Given the description of an element on the screen output the (x, y) to click on. 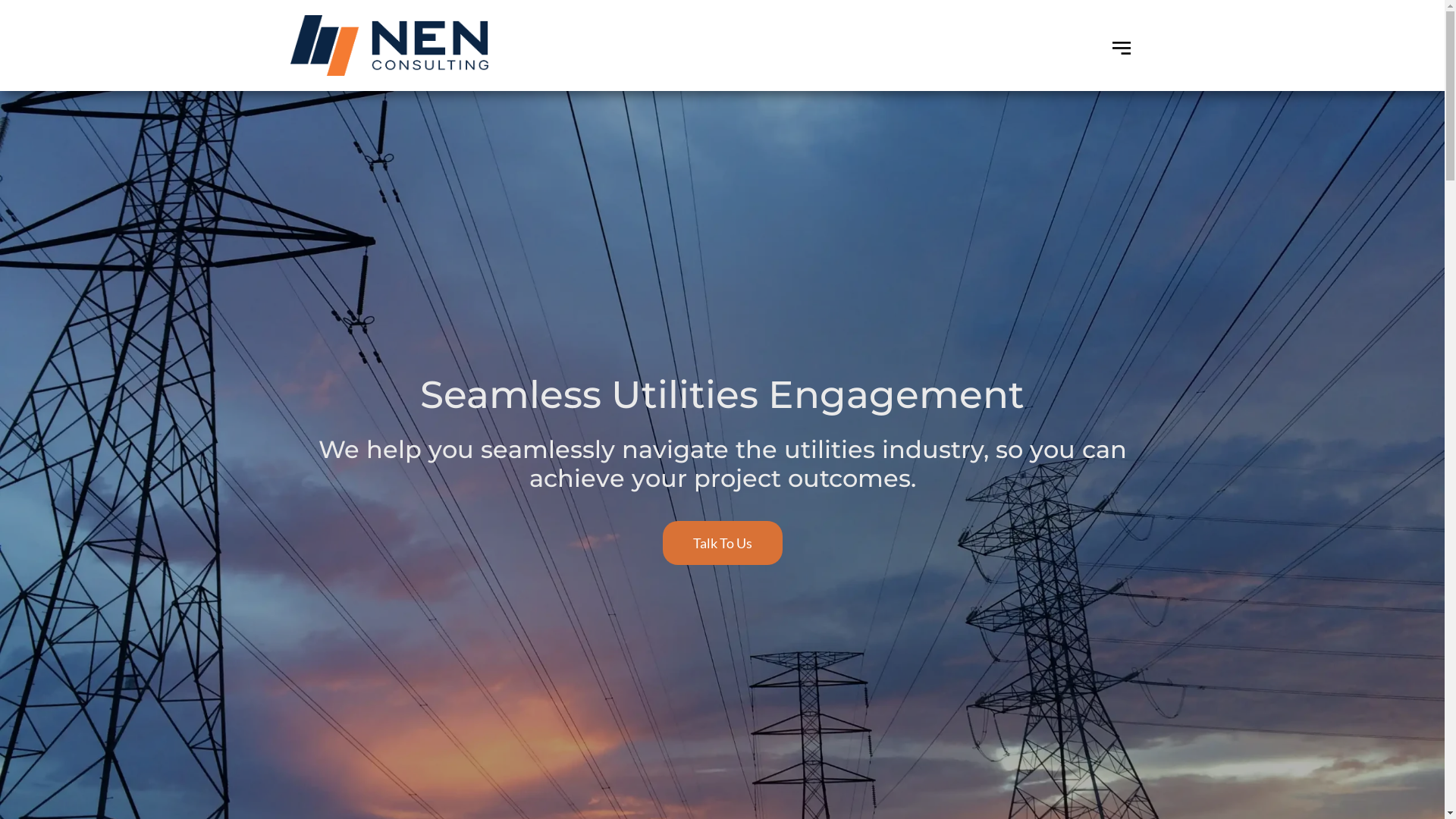
Menu Element type: text (1121, 45)
Talk To Us Element type: text (722, 542)
